Given the description of an element on the screen output the (x, y) to click on. 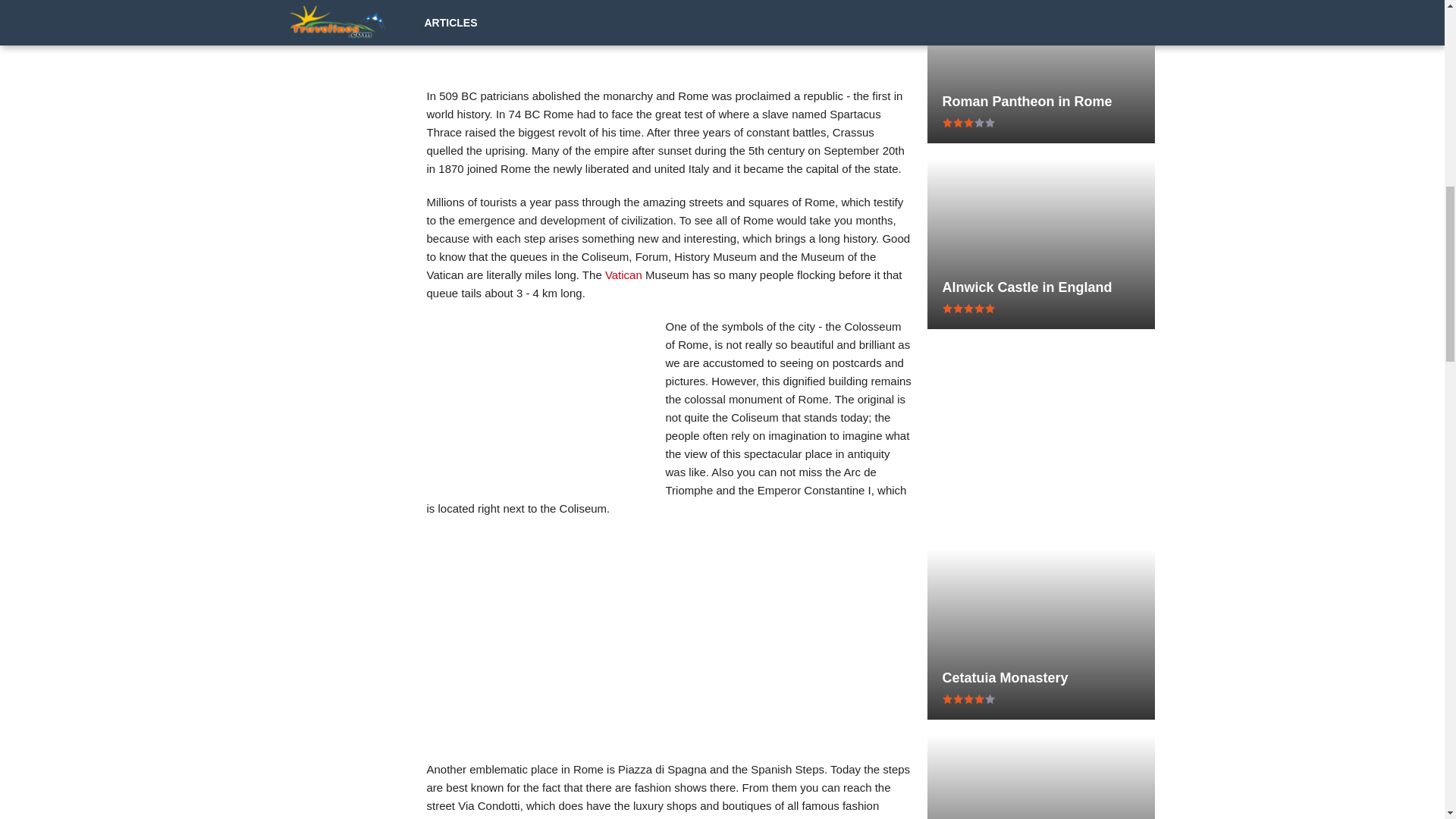
Cetatuia Monastery (1040, 677)
Vatican (623, 274)
Alnwick Castle in England (1040, 287)
Roman Pantheon in Rome (1040, 101)
Roman Pantheon in Rome (1040, 101)
Cetatuia Monastery (1040, 677)
Alnwick Castle in England (1040, 287)
